Given the description of an element on the screen output the (x, y) to click on. 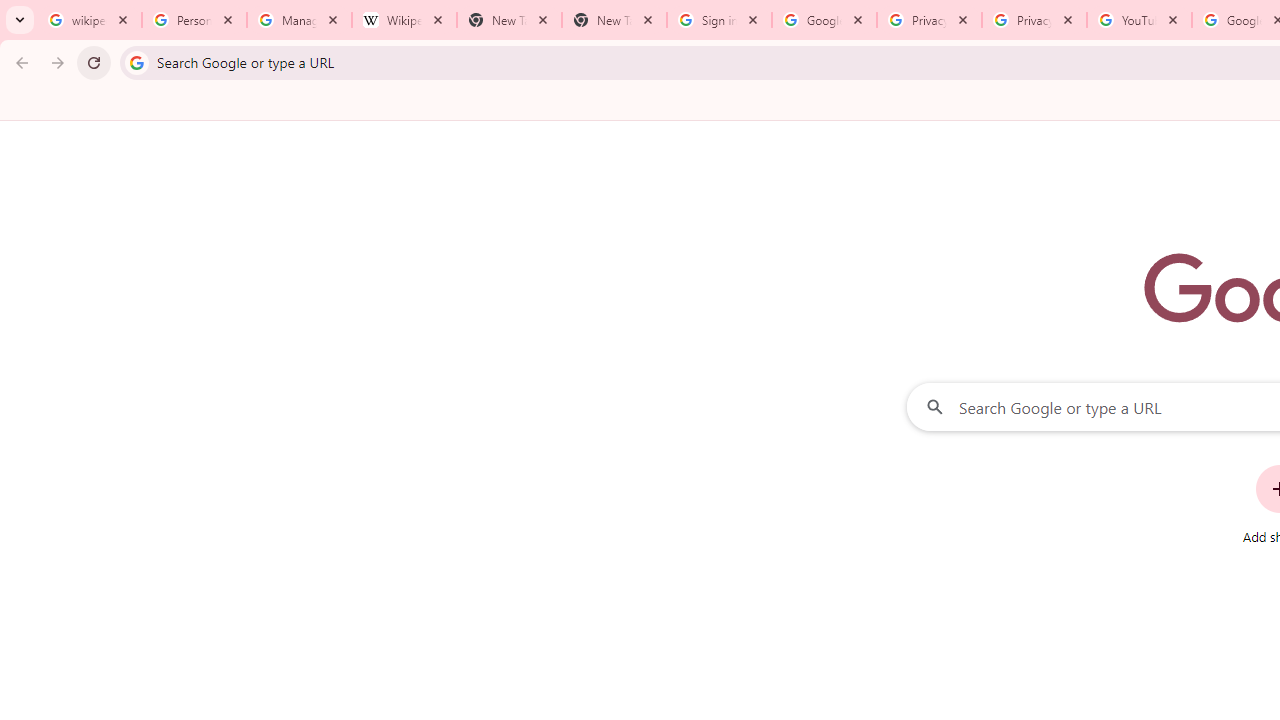
New Tab (613, 20)
Personalization & Google Search results - Google Search Help (194, 20)
Wikipedia:Edit requests - Wikipedia (404, 20)
YouTube (1138, 20)
Google Drive: Sign-in (823, 20)
Sign in - Google Accounts (718, 20)
